Given the description of an element on the screen output the (x, y) to click on. 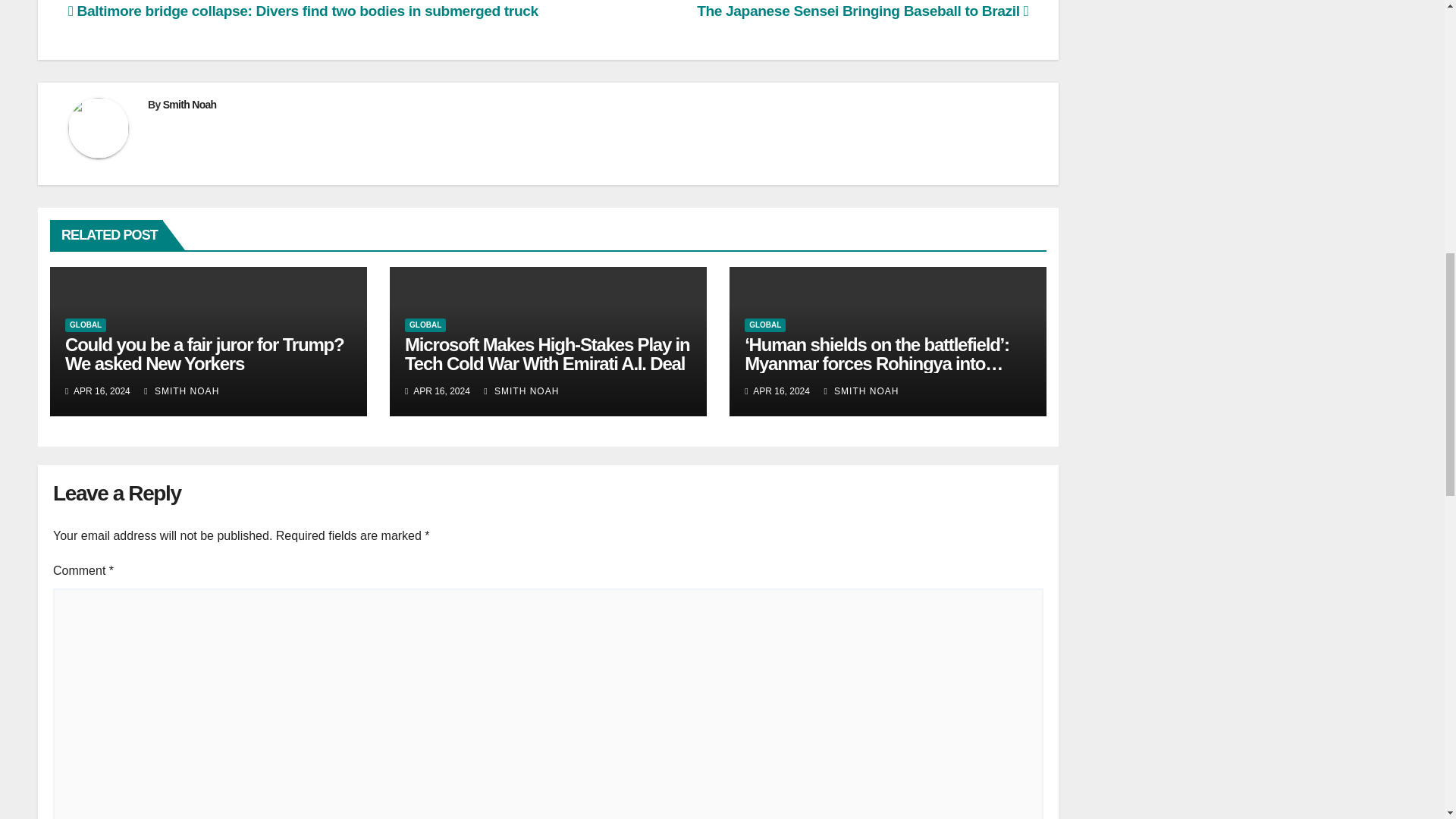
GLOBAL (85, 325)
SMITH NOAH (181, 390)
Could you be a fair juror for Trump? We asked New Yorkers (204, 353)
GLOBAL (424, 325)
SMITH NOAH (521, 390)
GLOBAL (765, 325)
The Japanese Sensei Bringing Baseball to Brazil (862, 10)
Smith Noah (189, 104)
